Given the description of an element on the screen output the (x, y) to click on. 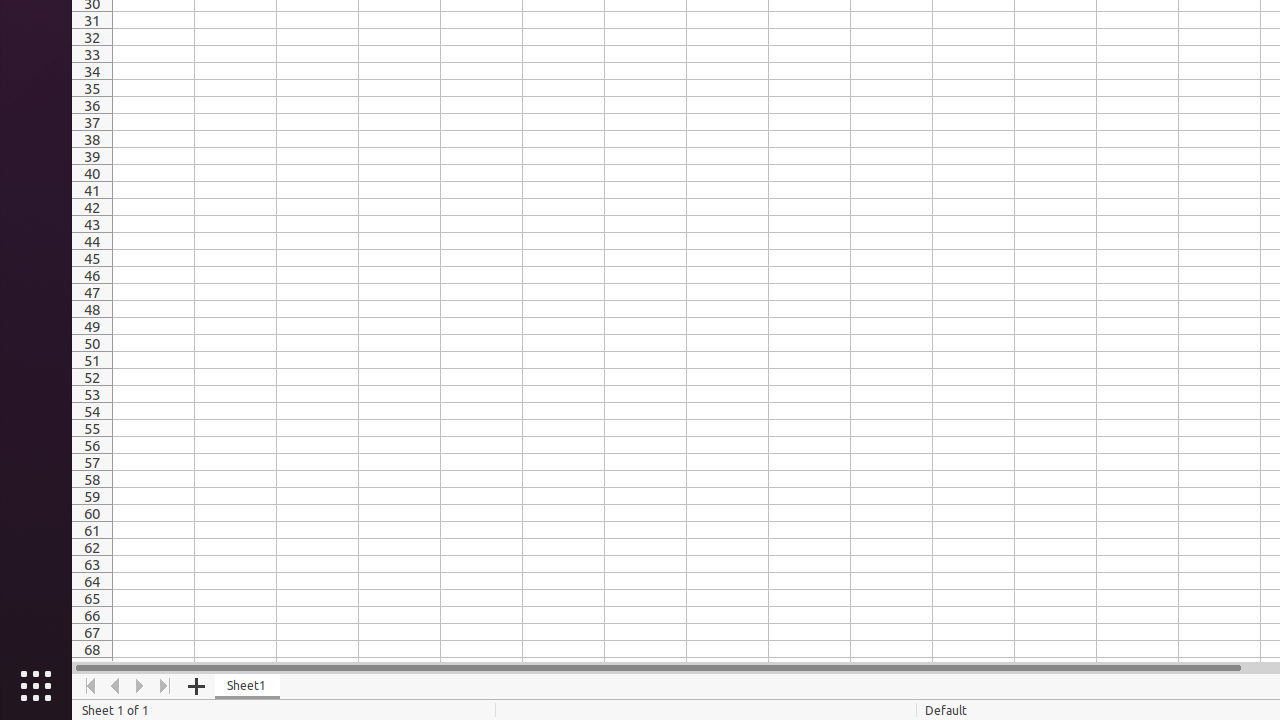
Move Left Element type: push-button (115, 686)
Move Right Element type: push-button (140, 686)
Move To End Element type: push-button (165, 686)
Sheet1 Element type: page-tab (247, 686)
